Given the description of an element on the screen output the (x, y) to click on. 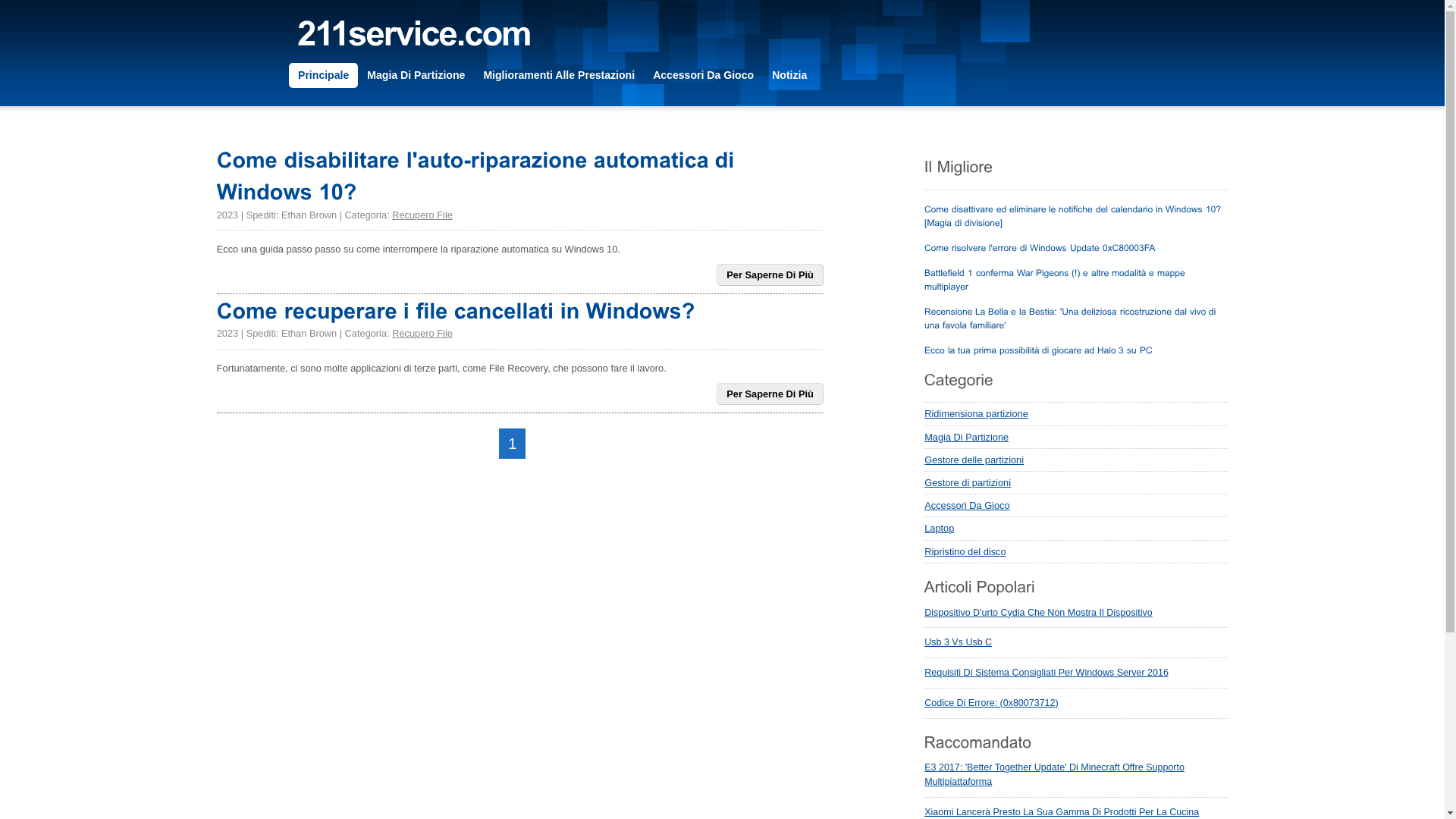
Miglioramenti Alle Prestazioni Element type: text (558, 74)
Ridimensiona partizione Element type: text (1075, 413)
Magia Di Partizione Element type: text (1075, 437)
Accessori Da Gioco Element type: text (1075, 505)
Ripristino del disco Element type: text (1075, 551)
Principale Element type: text (322, 74)
Gestore delle partizioni Element type: text (1075, 459)
Laptop Element type: text (1075, 528)
Usb 3 Vs Usb C Element type: text (957, 642)
Accessori Da Gioco Element type: text (702, 74)
Recupero File Element type: text (422, 214)
Requisiti Di Sistema Consigliati Per Windows Server 2016 Element type: text (1046, 672)
Magia Di Partizione Element type: text (415, 74)
Gestore di partizioni Element type: text (1075, 482)
Codice Di Errore: (0x80073712) Element type: text (990, 702)
Dispositivo D'Urto Cydia Che Non Mostra Il Dispositivo Element type: text (1037, 612)
1 Element type: text (511, 443)
Recupero File Element type: text (422, 332)
Notizia Element type: text (788, 74)
